Given the description of an element on the screen output the (x, y) to click on. 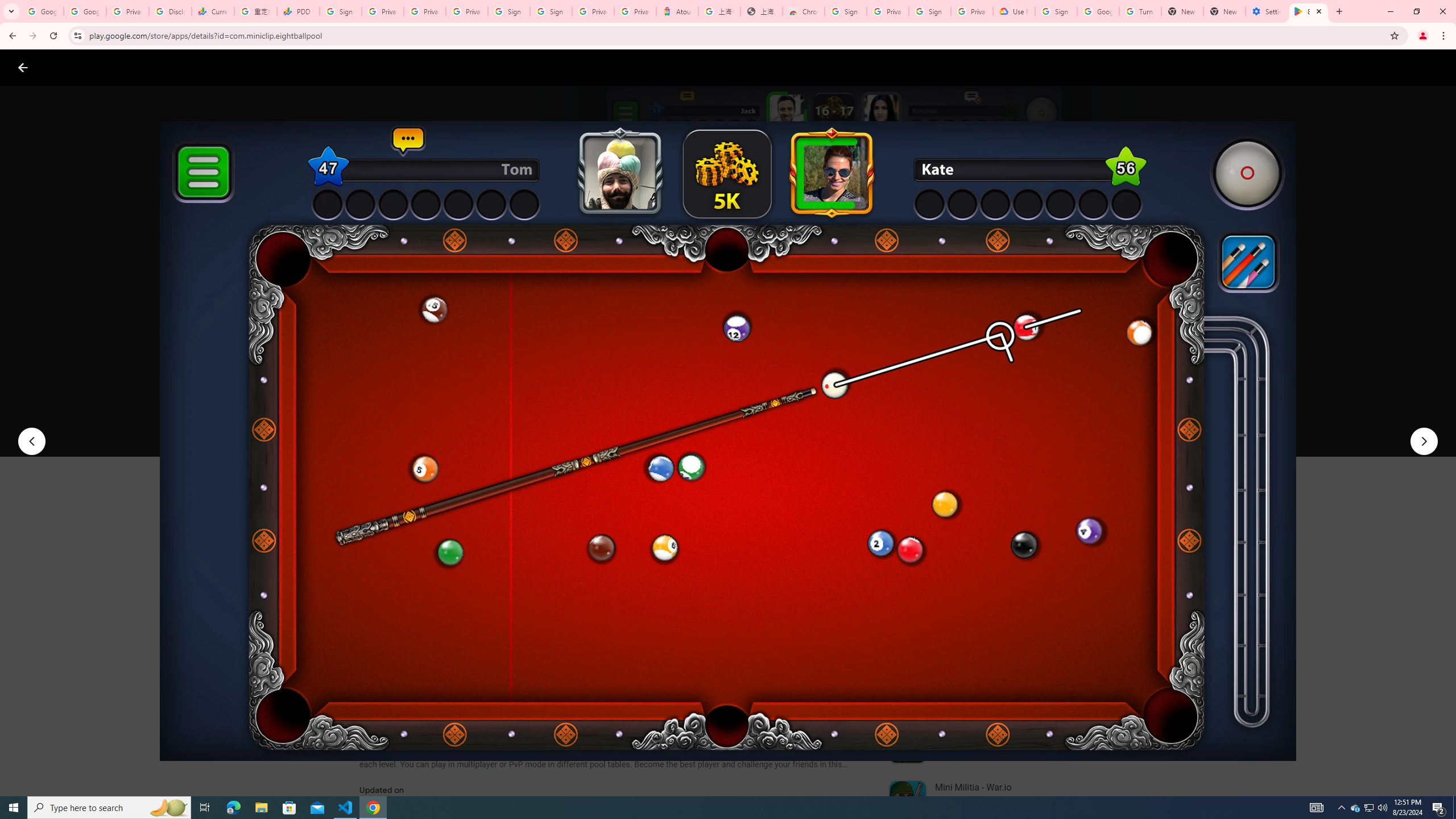
New Tab (1224, 11)
Sign in - Google Accounts (340, 11)
8 Ball Pool - Apps on Google Play (1308, 11)
Close screenshot viewer (22, 67)
More info about this content rating (575, 385)
Help Center (1409, 67)
Expand (978, 497)
